Given the description of an element on the screen output the (x, y) to click on. 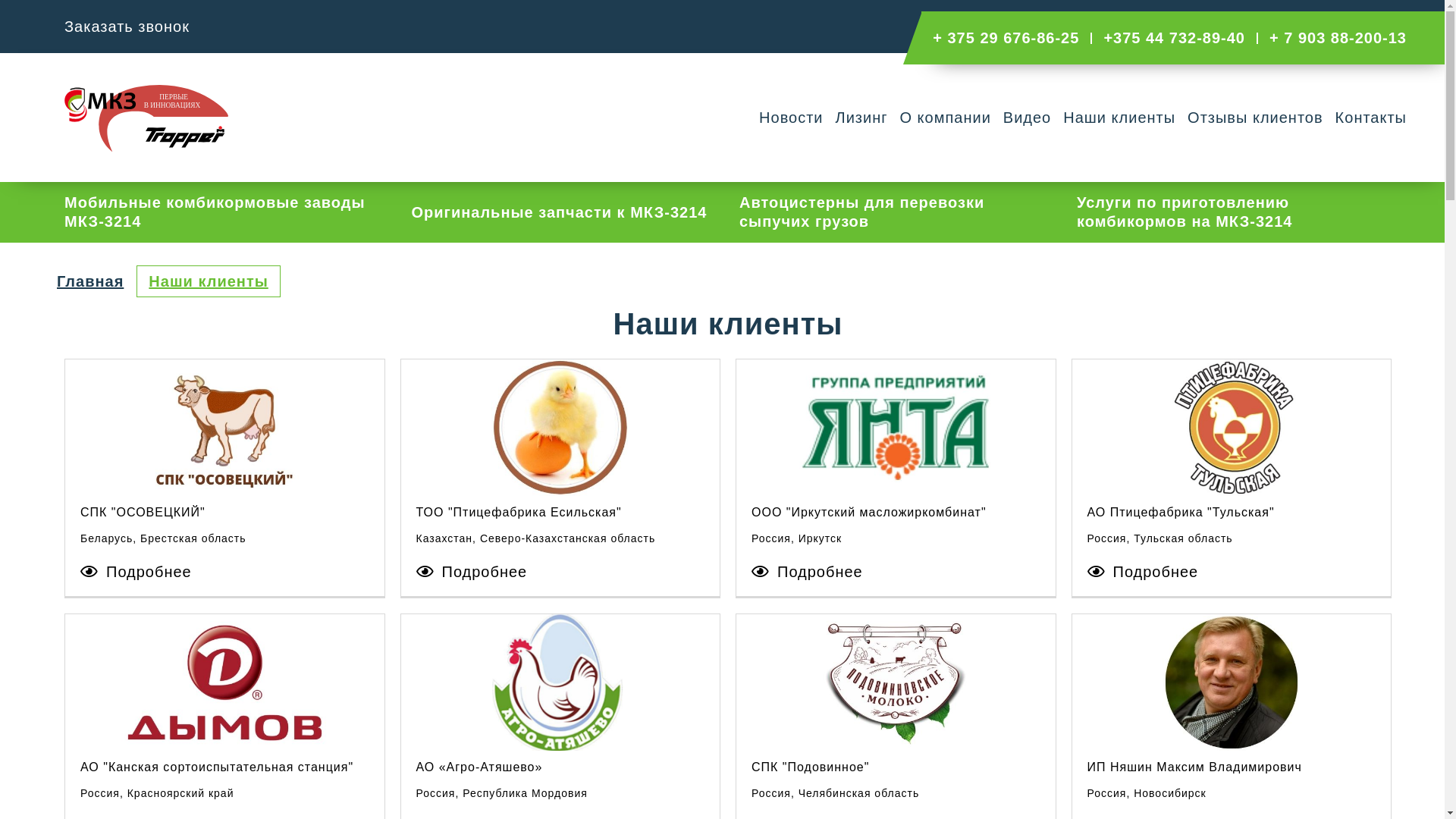
+ 375 29 676-86-25 Element type: text (1012, 37)
+ 7 903 88-200-13 Element type: text (1343, 37)
+375 44 732-89-40 Element type: text (1180, 37)
